Given the description of an element on the screen output the (x, y) to click on. 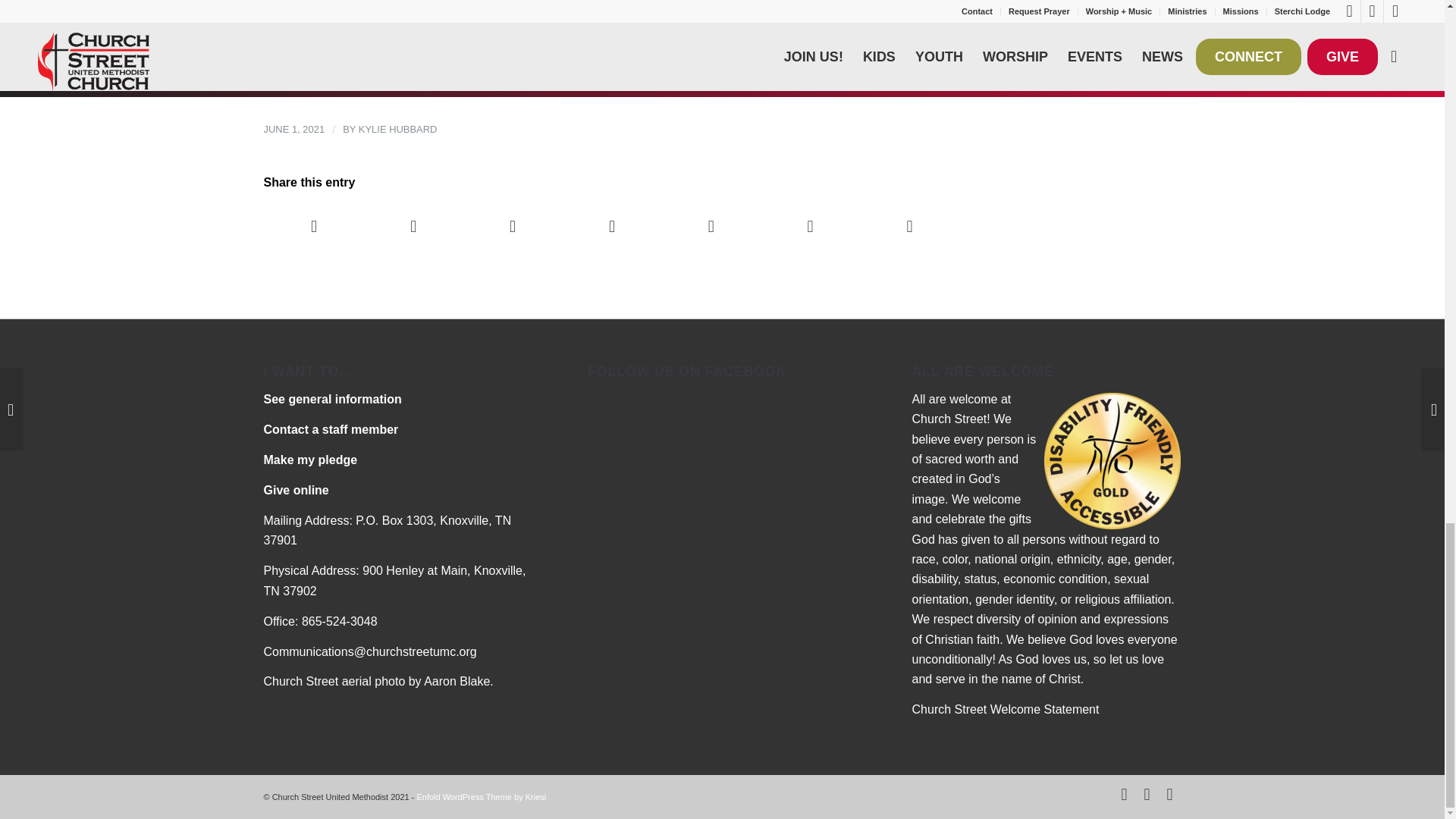
Posts by Kylie Hubbard (398, 129)
